Given the description of an element on the screen output the (x, y) to click on. 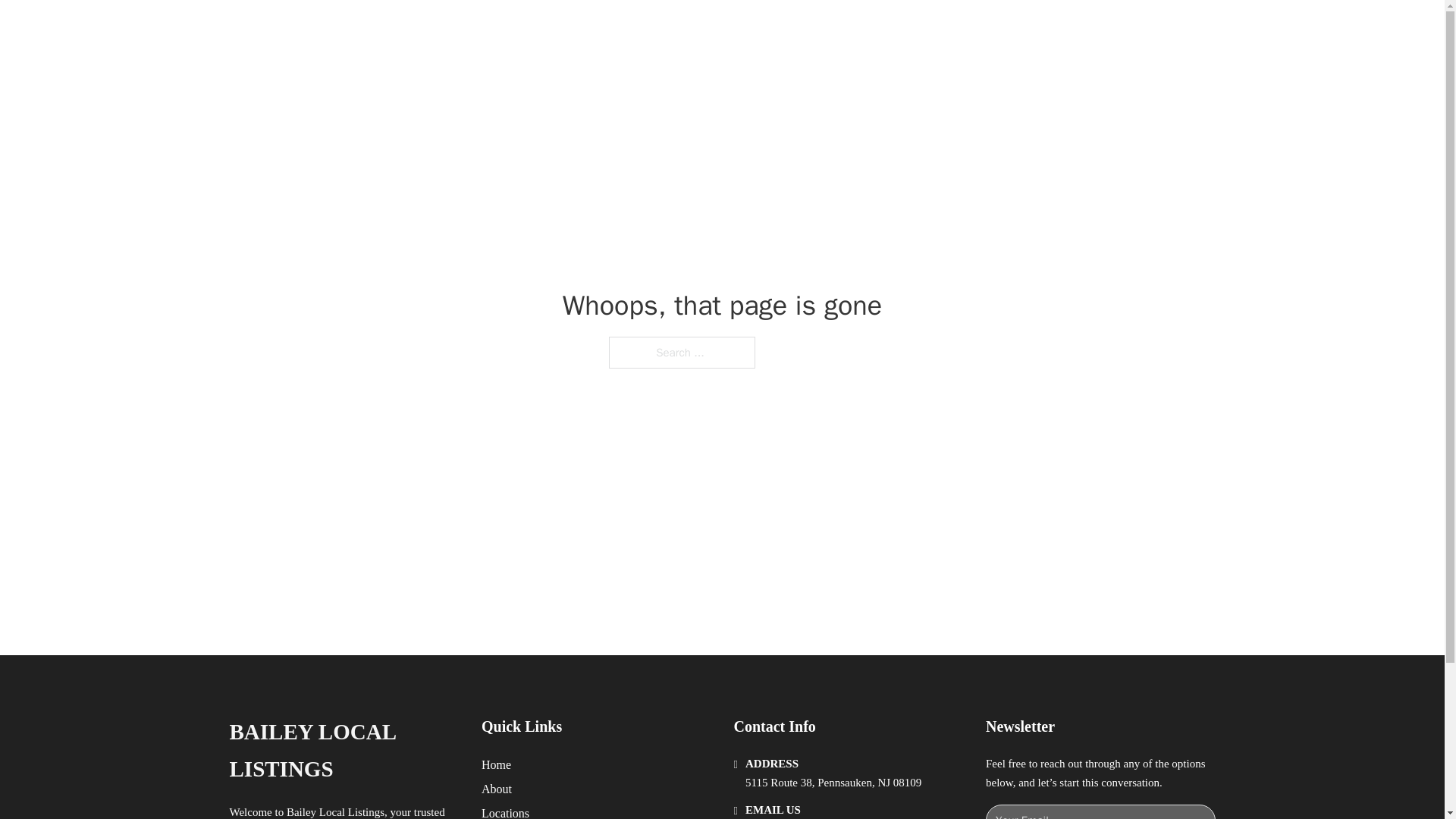
About (496, 788)
HOME (919, 29)
BAILEY LOCAL LISTINGS (427, 28)
LOCATIONS (990, 29)
Locations (505, 811)
BAILEY LOCAL LISTINGS (343, 750)
Home (496, 764)
